Given the description of an element on the screen output the (x, y) to click on. 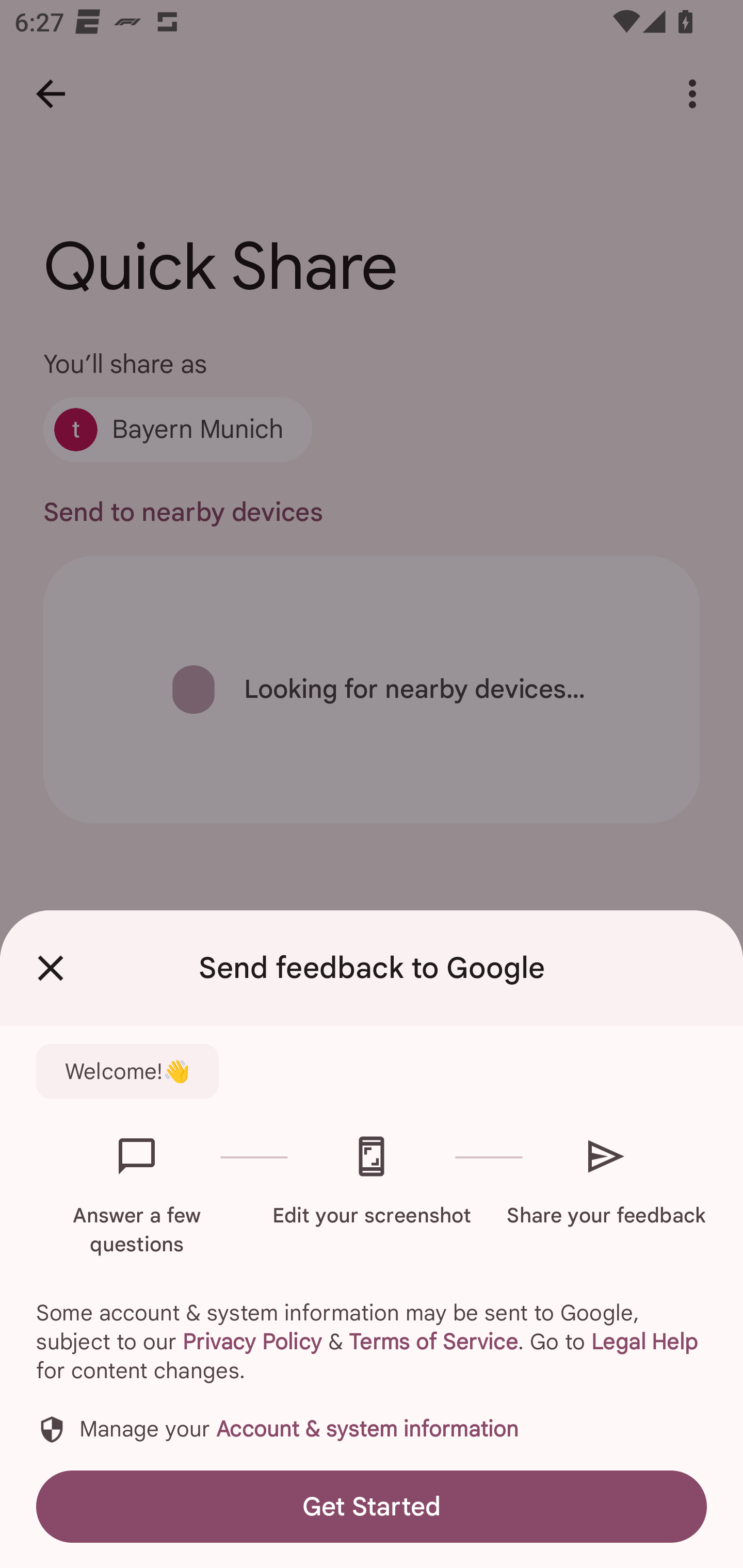
Close Feedback (50, 968)
Get Started (371, 1505)
